Given the description of an element on the screen output the (x, y) to click on. 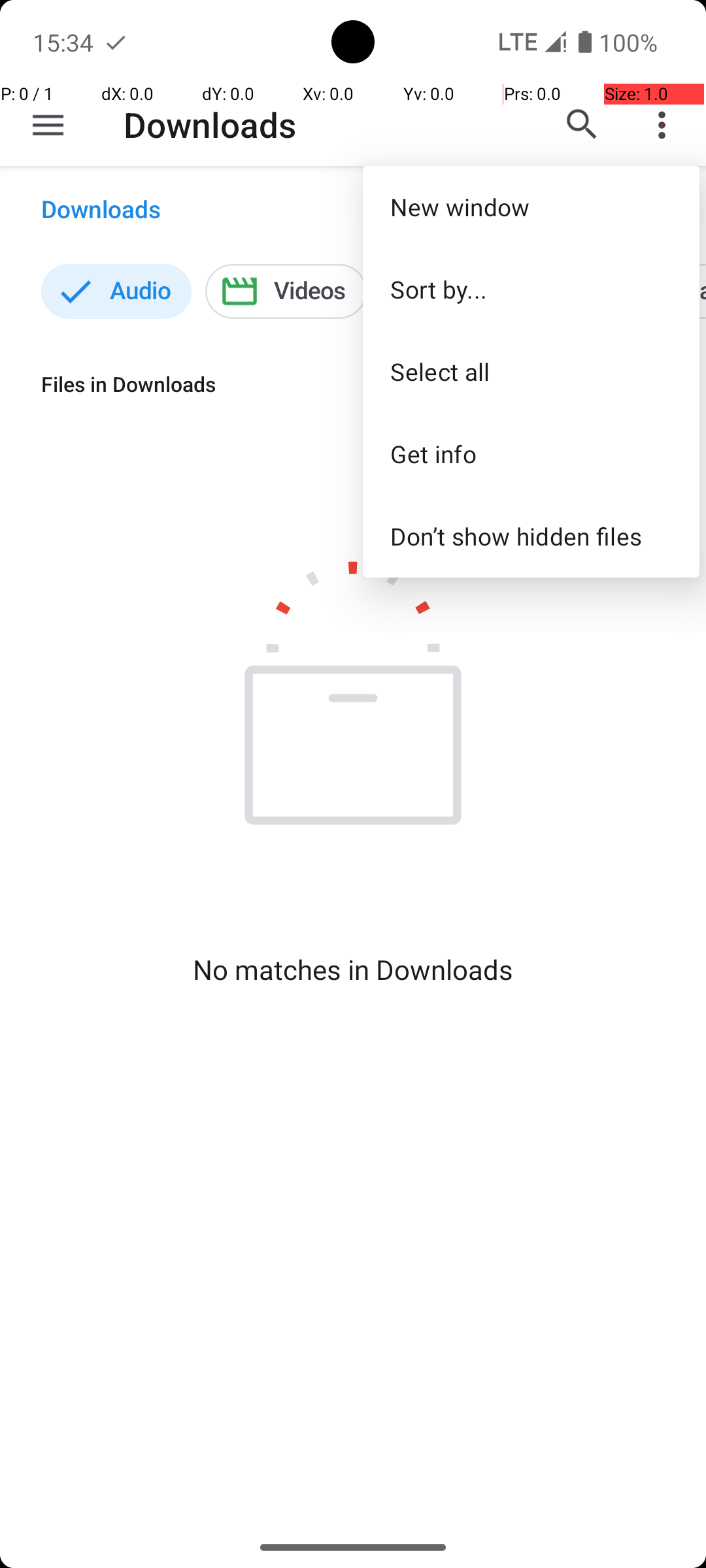
New window Element type: android.widget.TextView (531, 206)
Sort by... Element type: android.widget.TextView (531, 288)
Select all Element type: android.widget.TextView (531, 371)
Get info Element type: android.widget.TextView (531, 453)
Don’t show hidden files Element type: android.widget.TextView (531, 535)
